Given the description of an element on the screen output the (x, y) to click on. 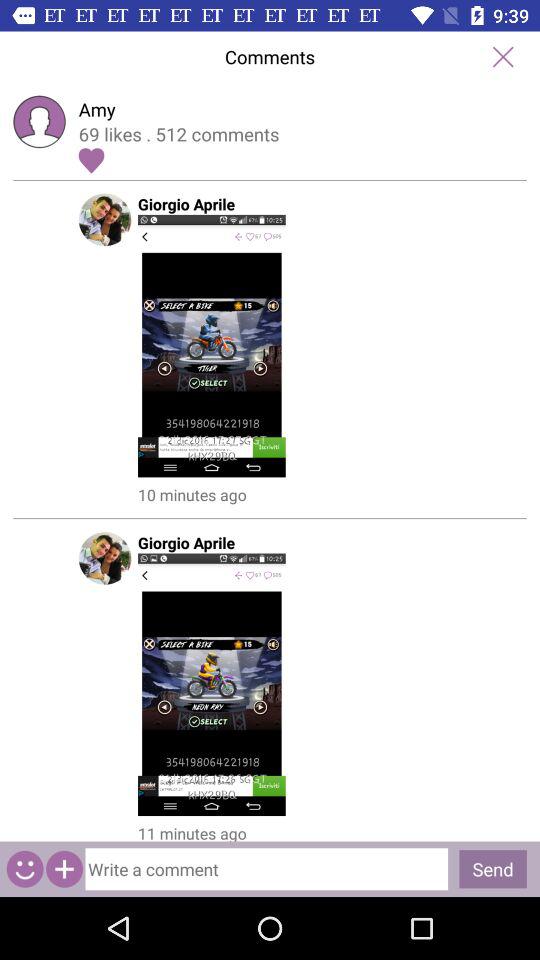
like user (91, 160)
